Given the description of an element on the screen output the (x, y) to click on. 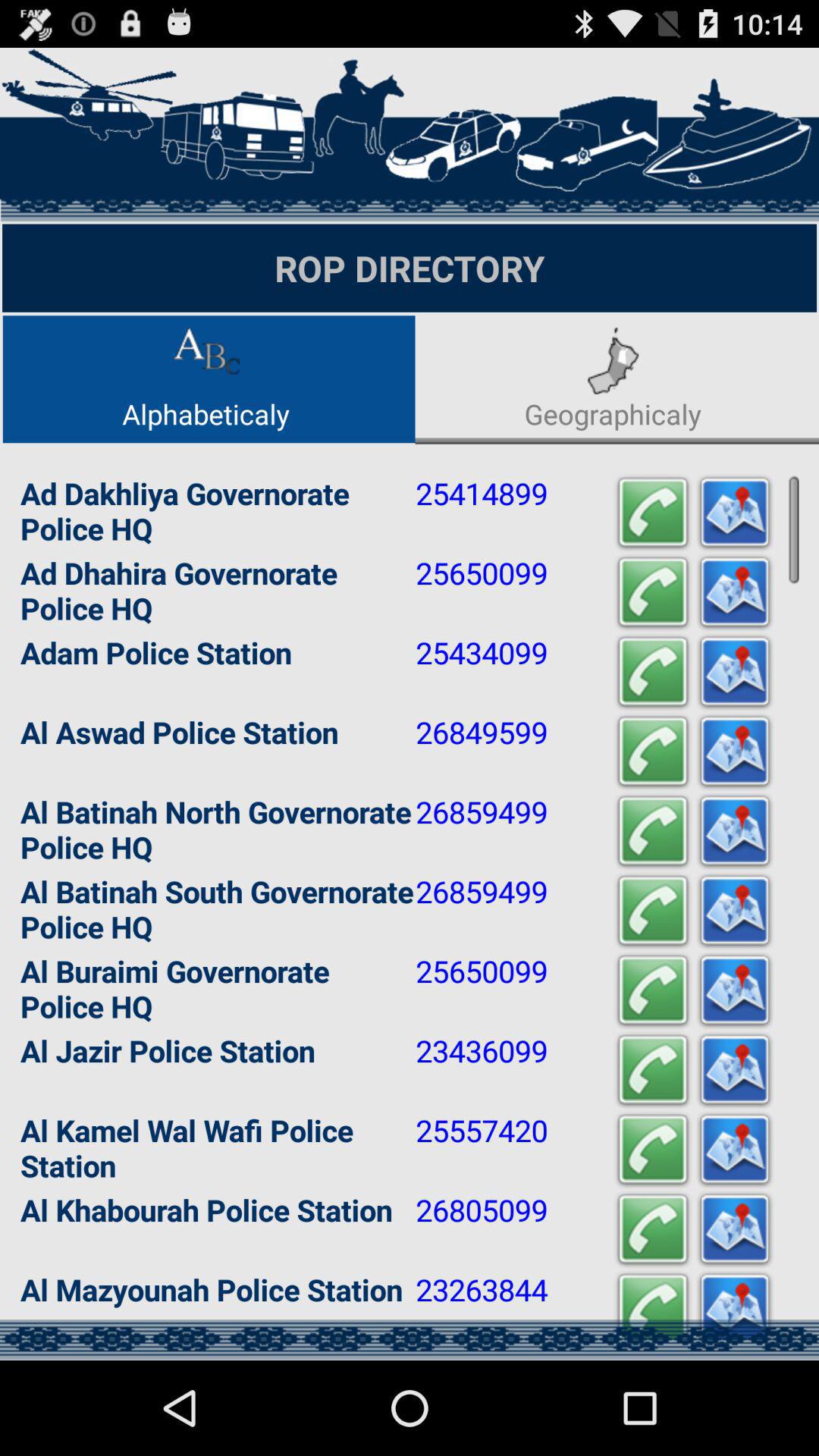
show on map (734, 512)
